Given the description of an element on the screen output the (x, y) to click on. 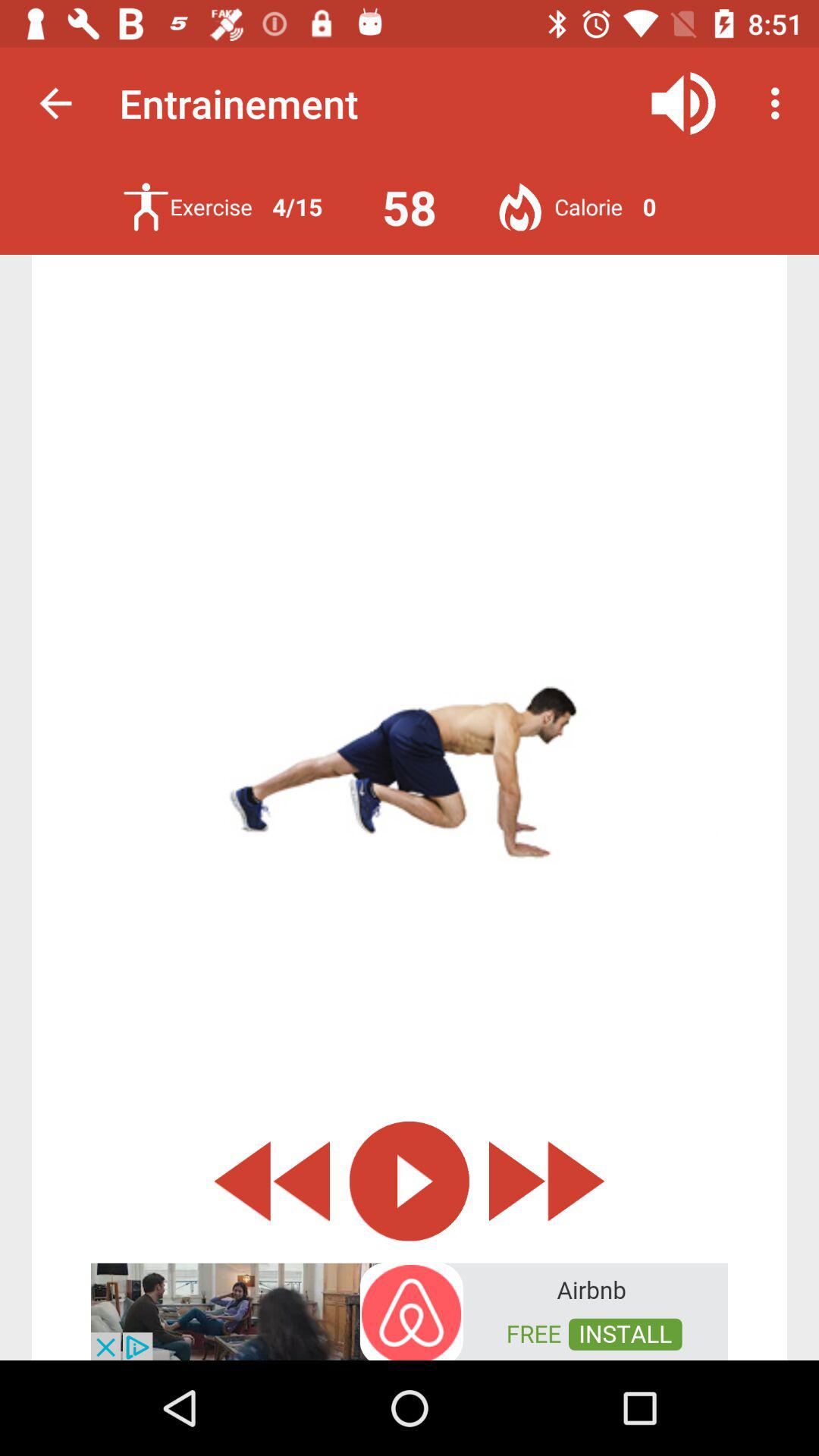
advertisement (409, 1310)
